Given the description of an element on the screen output the (x, y) to click on. 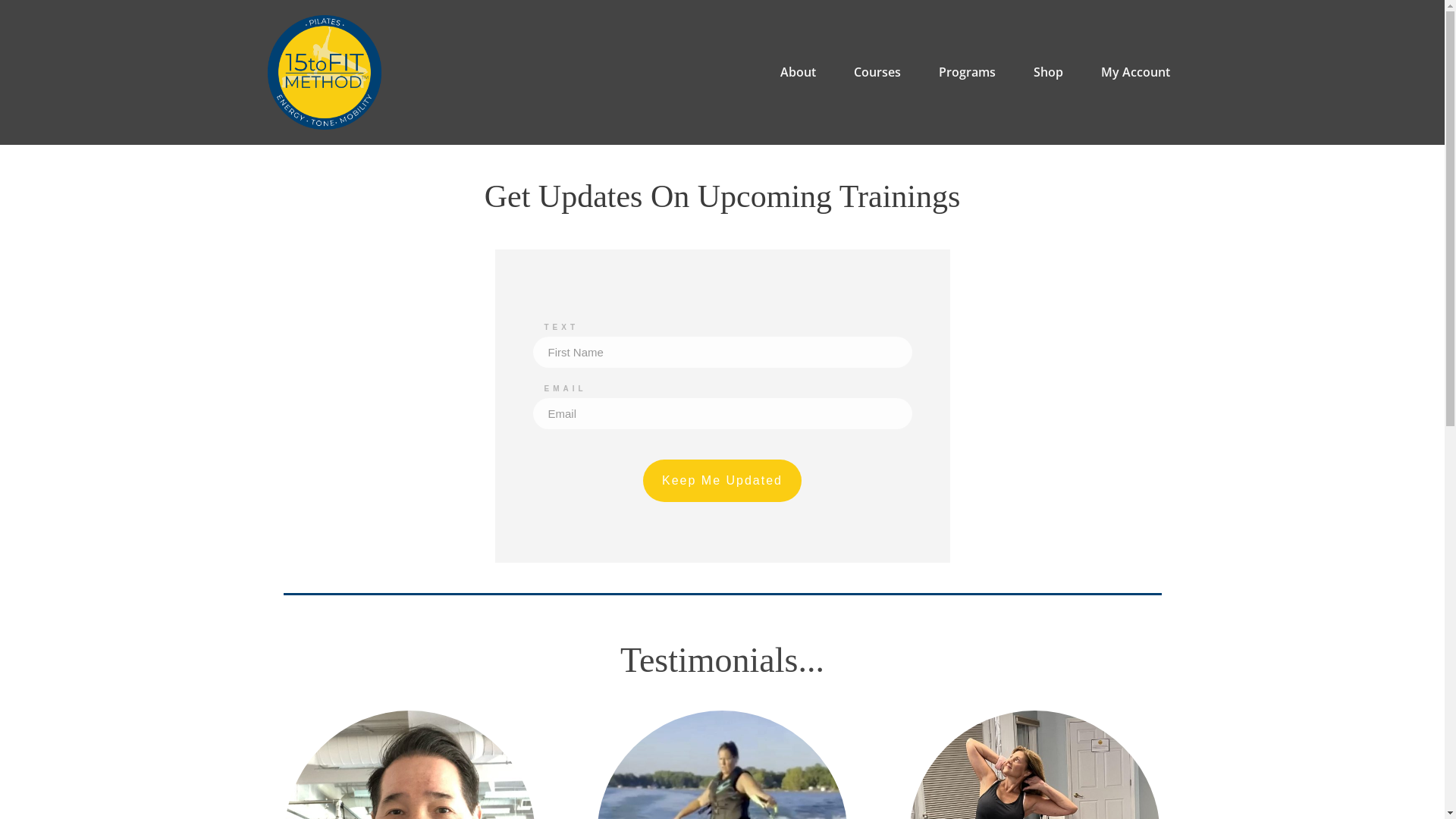
About Element type: text (797, 71)
My Account Element type: text (1135, 71)
Programs Element type: text (966, 71)
Shop Element type: text (1047, 71)
Courses Element type: text (876, 71)
Keep Me Updated Element type: text (722, 480)
